Given the description of an element on the screen output the (x, y) to click on. 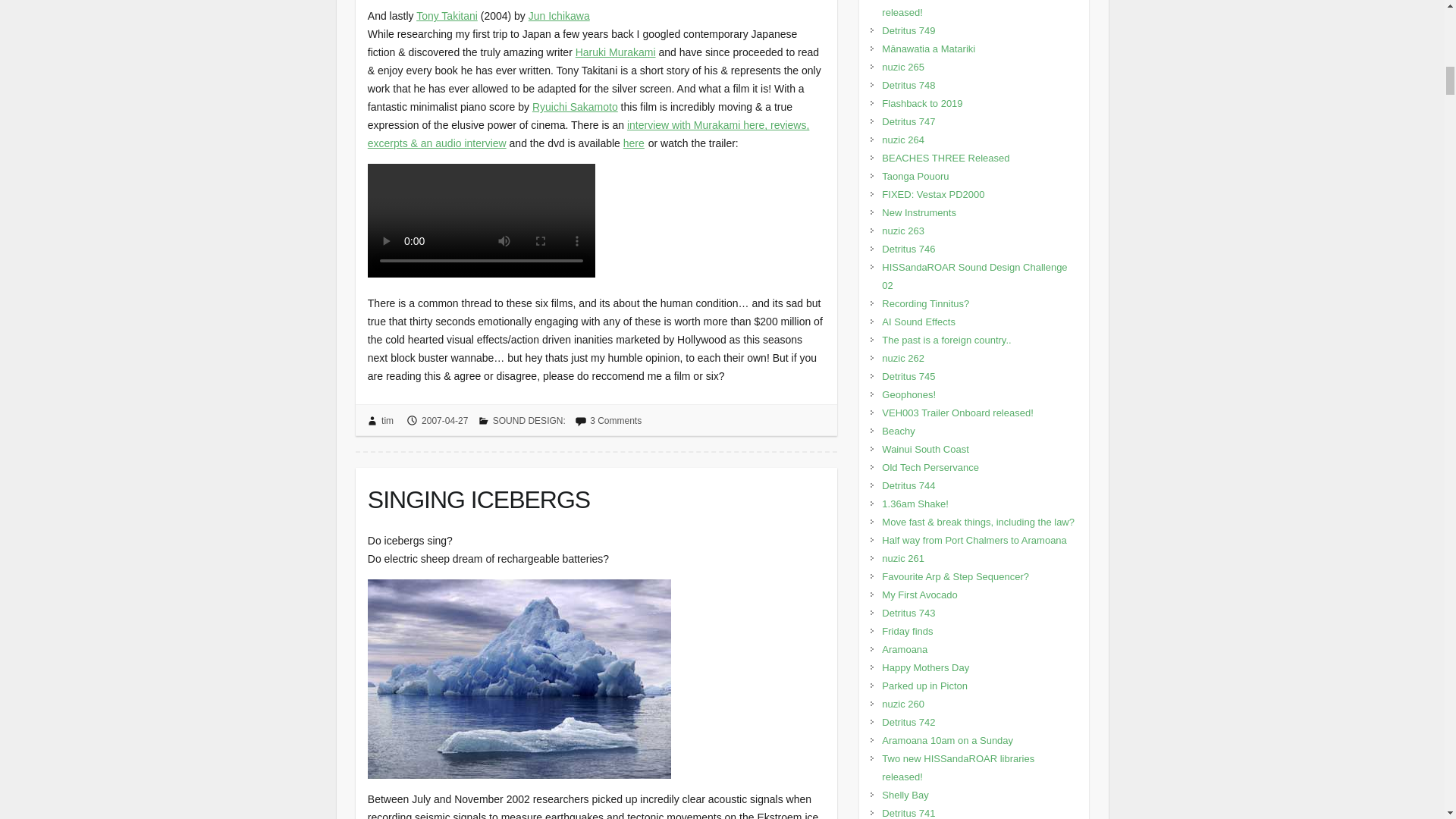
Tony Takitani (446, 15)
SINGING ICEBERGS (596, 495)
Haruki Murakami (615, 51)
Ryuichi Sakamoto (574, 106)
Jun Ichikawa (558, 15)
